Given the description of an element on the screen output the (x, y) to click on. 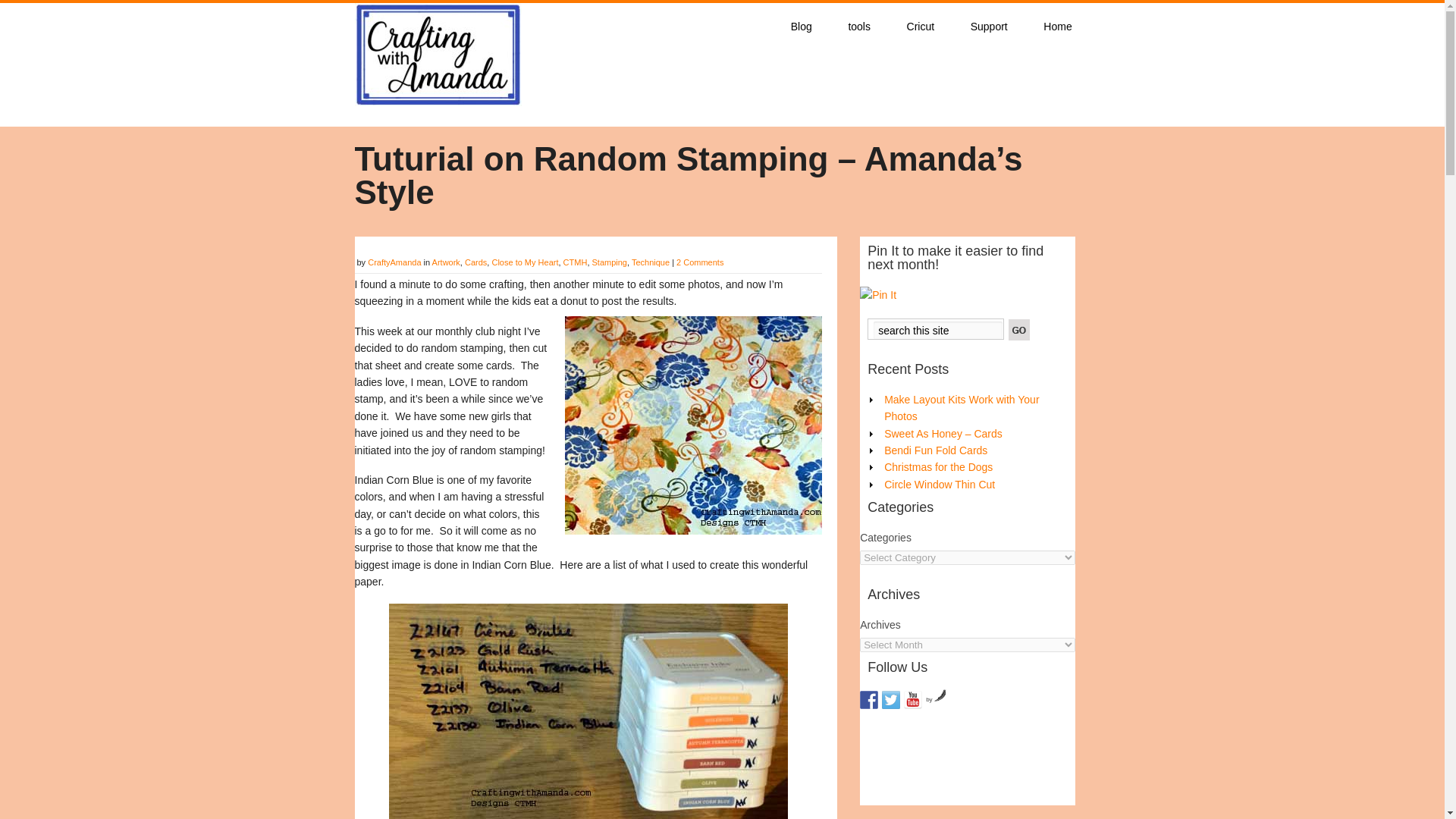
Cards (475, 261)
Technique (650, 261)
Make Layout Kits Work with Your Photos (961, 407)
Home (1058, 26)
View all posts by CraftyAmanda (394, 261)
Stamping (609, 261)
Pin It (878, 294)
CTMH (575, 261)
2 Comments (700, 261)
Support (989, 26)
